Given the description of an element on the screen output the (x, y) to click on. 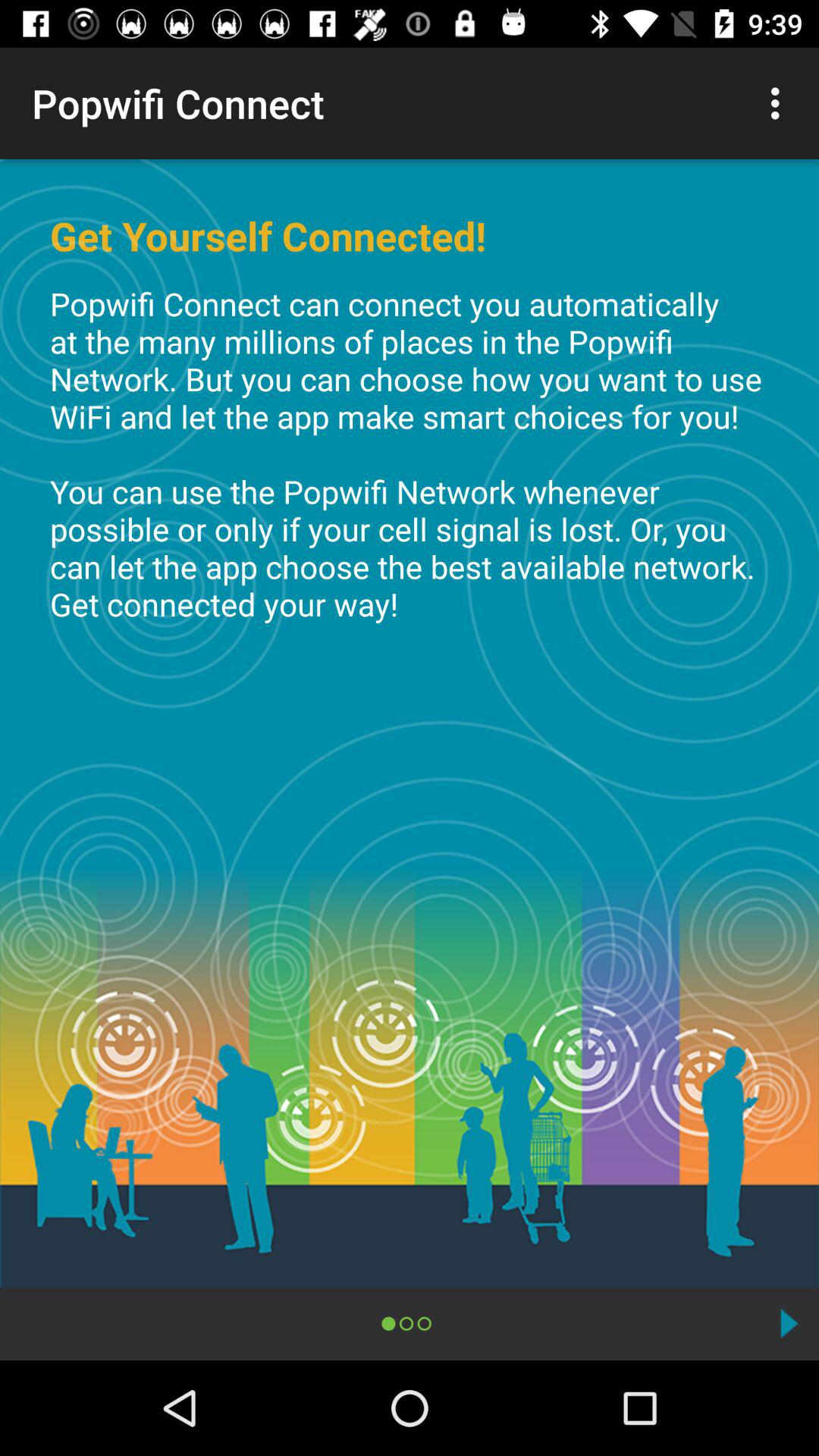
next (789, 1323)
